Given the description of an element on the screen output the (x, y) to click on. 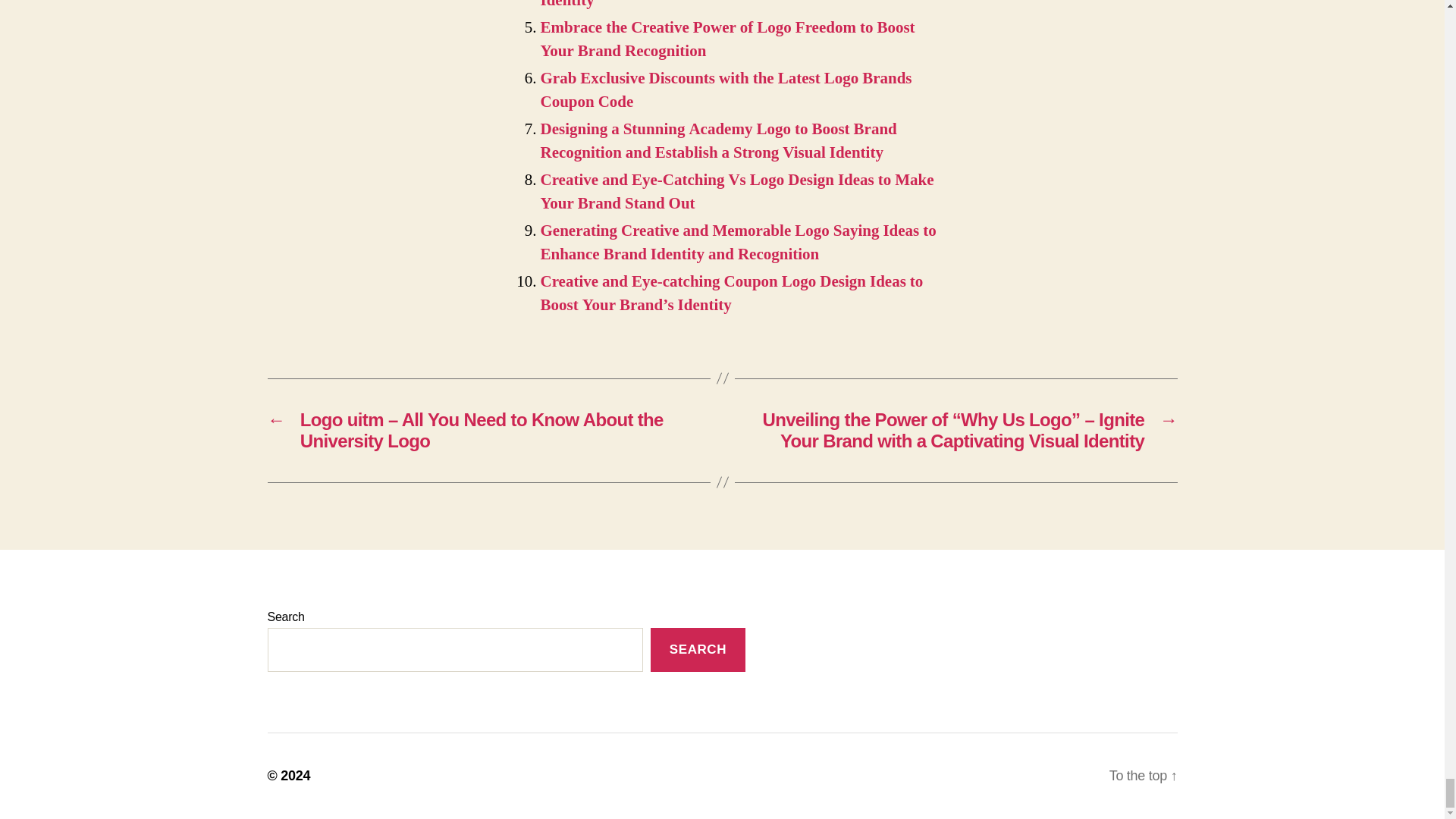
SEARCH (697, 650)
Creative Logo Symbol Ideas to Inspire Your Brand Identity (712, 5)
Creative Logo Symbol Ideas to Inspire Your Brand Identity (712, 5)
